Given the description of an element on the screen output the (x, y) to click on. 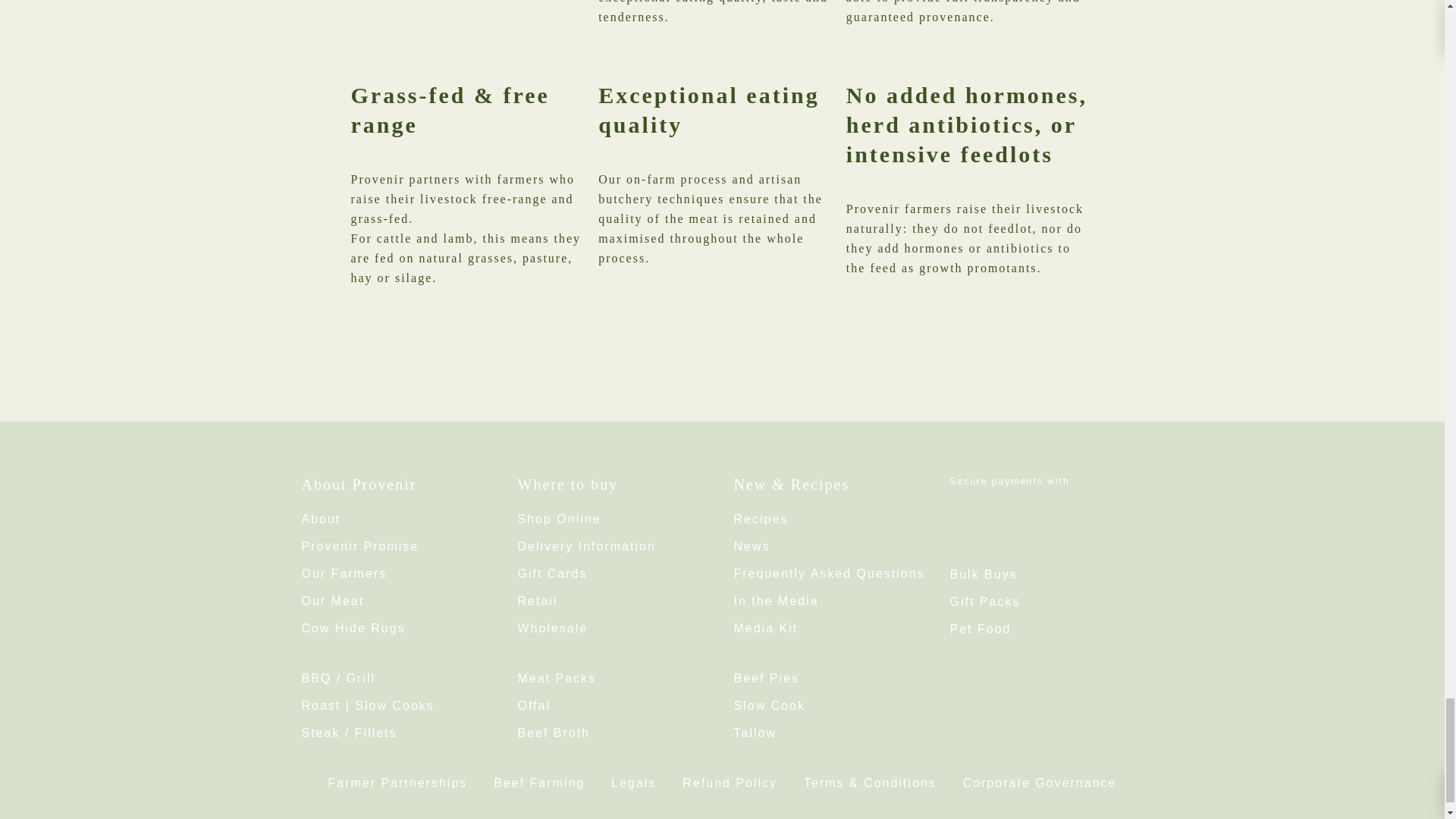
About (320, 518)
Our Meat (333, 600)
Our Farmers (344, 573)
Cow Hide Rugs (353, 627)
Provenir Promise (360, 545)
